Given the description of an element on the screen output the (x, y) to click on. 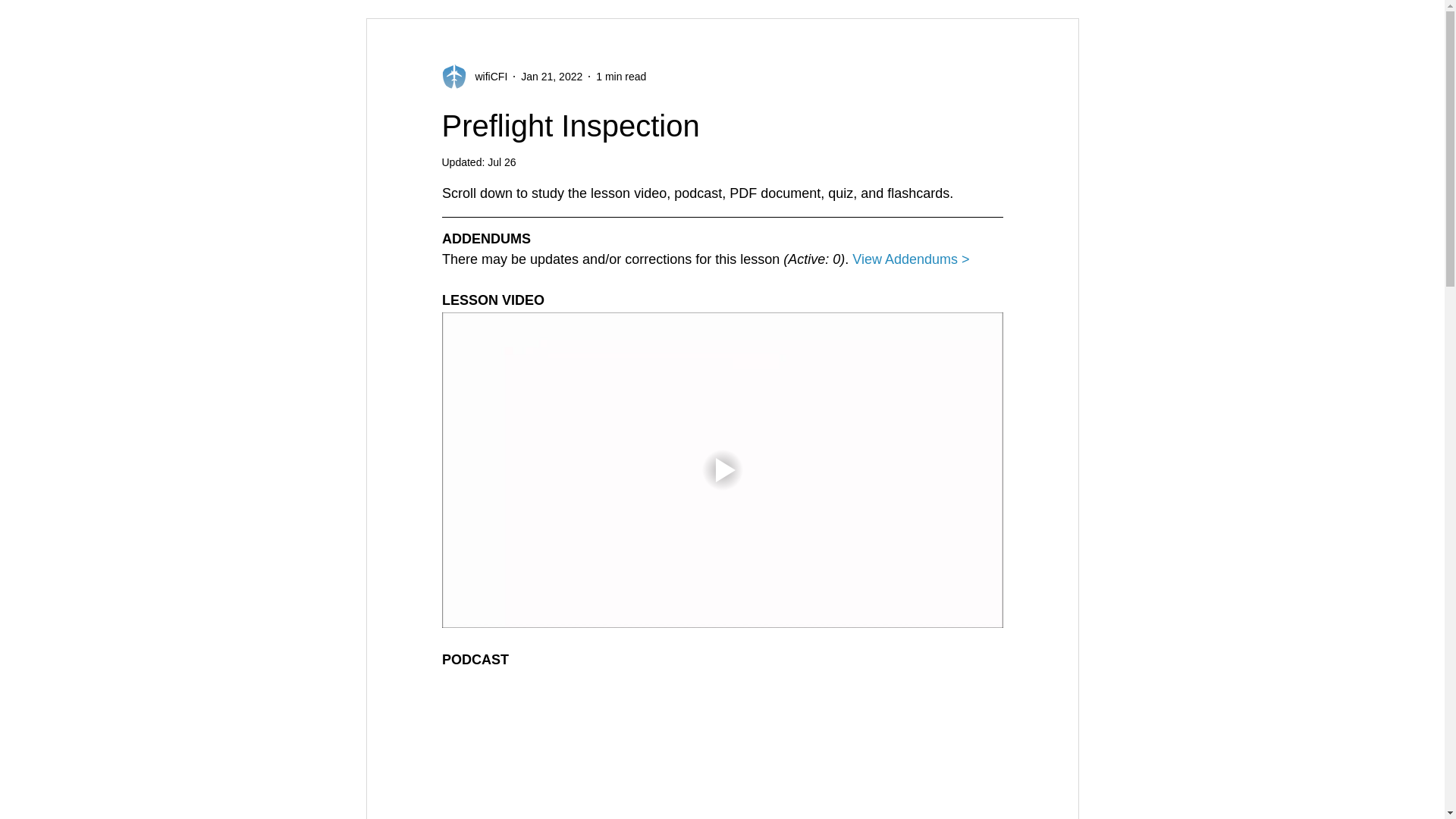
wifiCFI (473, 76)
1 min read (620, 75)
wifiCFI (485, 75)
Jan 21, 2022 (551, 75)
Jul 26 (501, 162)
